Given the description of an element on the screen output the (x, y) to click on. 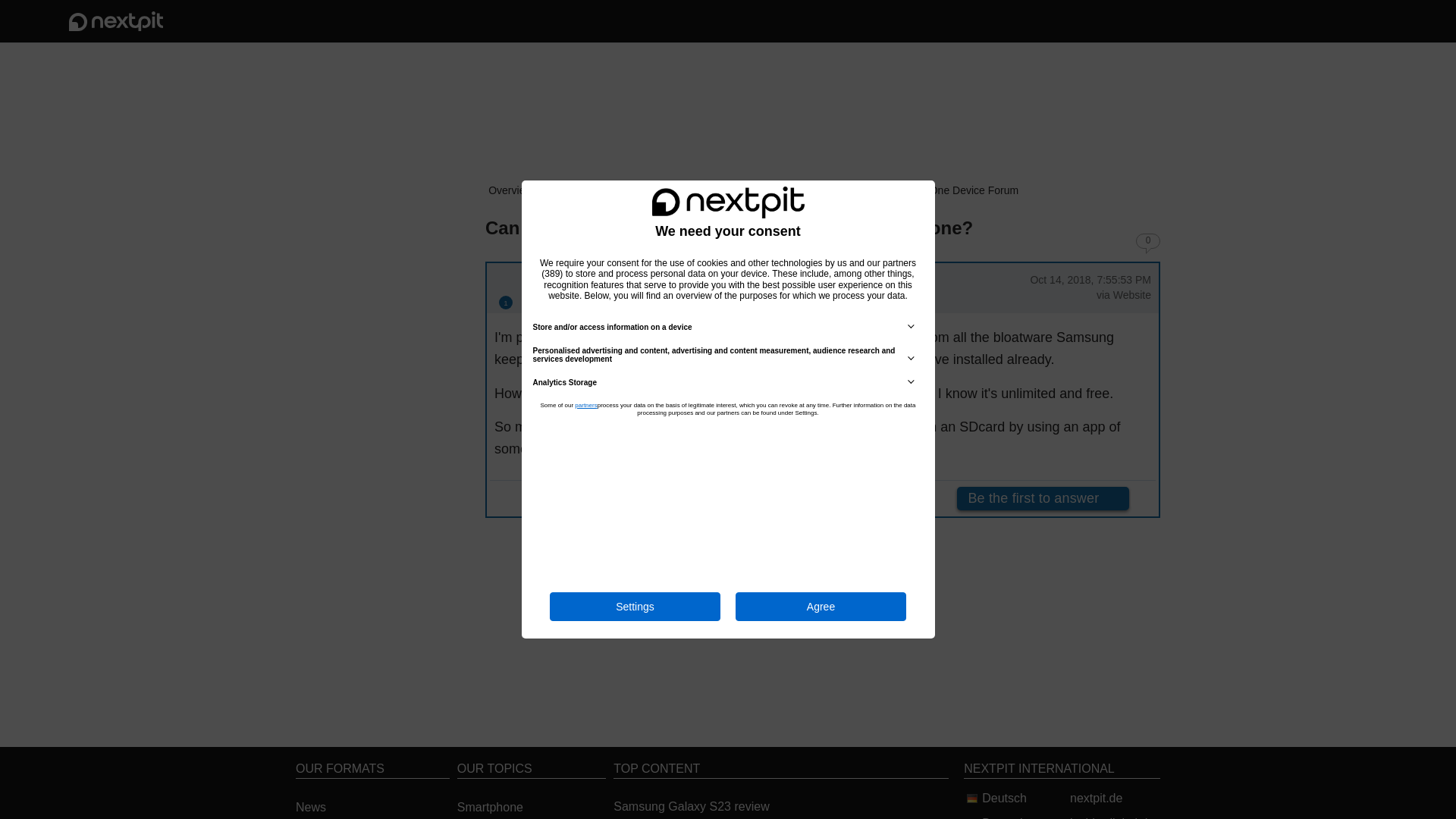
1 (505, 302)
To the nextpit homepage (115, 21)
Login (1325, 21)
You must be logged in to favorite a thread (464, 226)
